Given the description of an element on the screen output the (x, y) to click on. 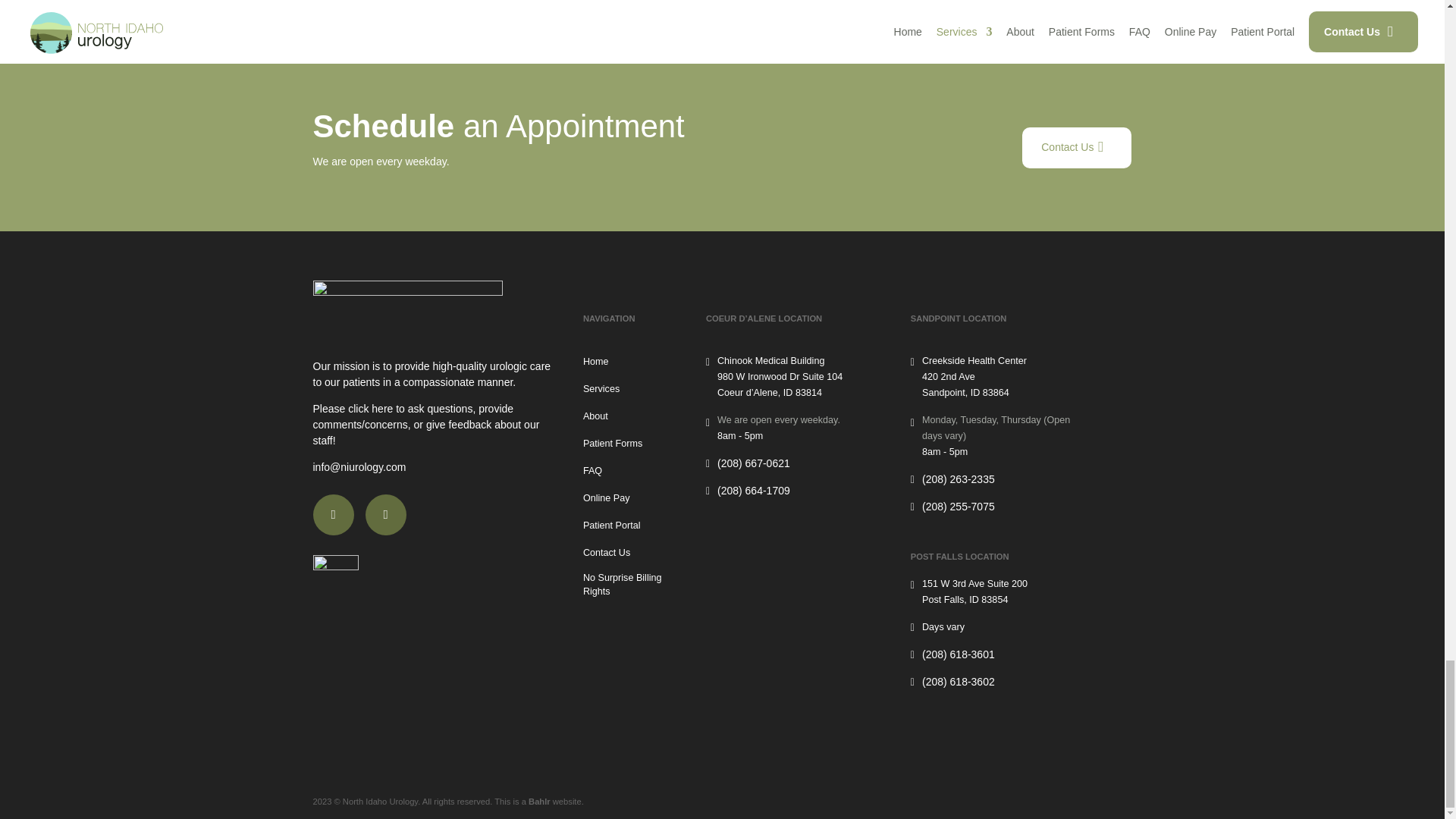
Contact Us (1076, 147)
Patient Forms (612, 444)
Contact Us (606, 553)
No Surprise Billing Rights (632, 584)
About (595, 417)
Services (601, 389)
Patient Portal (611, 526)
FAQ (592, 471)
Online Pay (606, 499)
Home (595, 362)
